Given the description of an element on the screen output the (x, y) to click on. 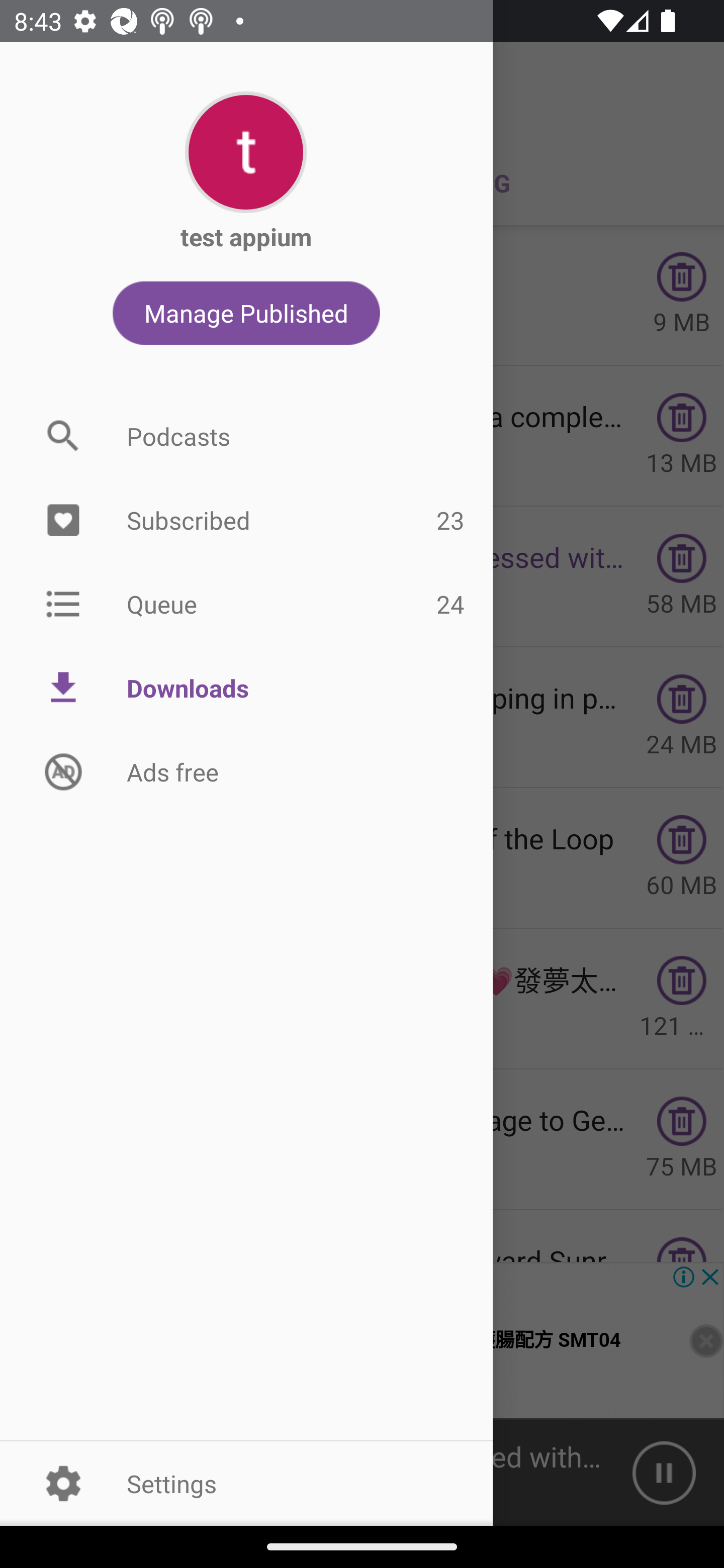
Manage Published (246, 312)
Picture Podcasts (246, 435)
Picture Subscribed 23 (246, 520)
Picture Queue 24 (246, 603)
Picture Downloads (246, 688)
Picture Ads free (246, 771)
Settings Picture Settings (246, 1482)
